Given the description of an element on the screen output the (x, y) to click on. 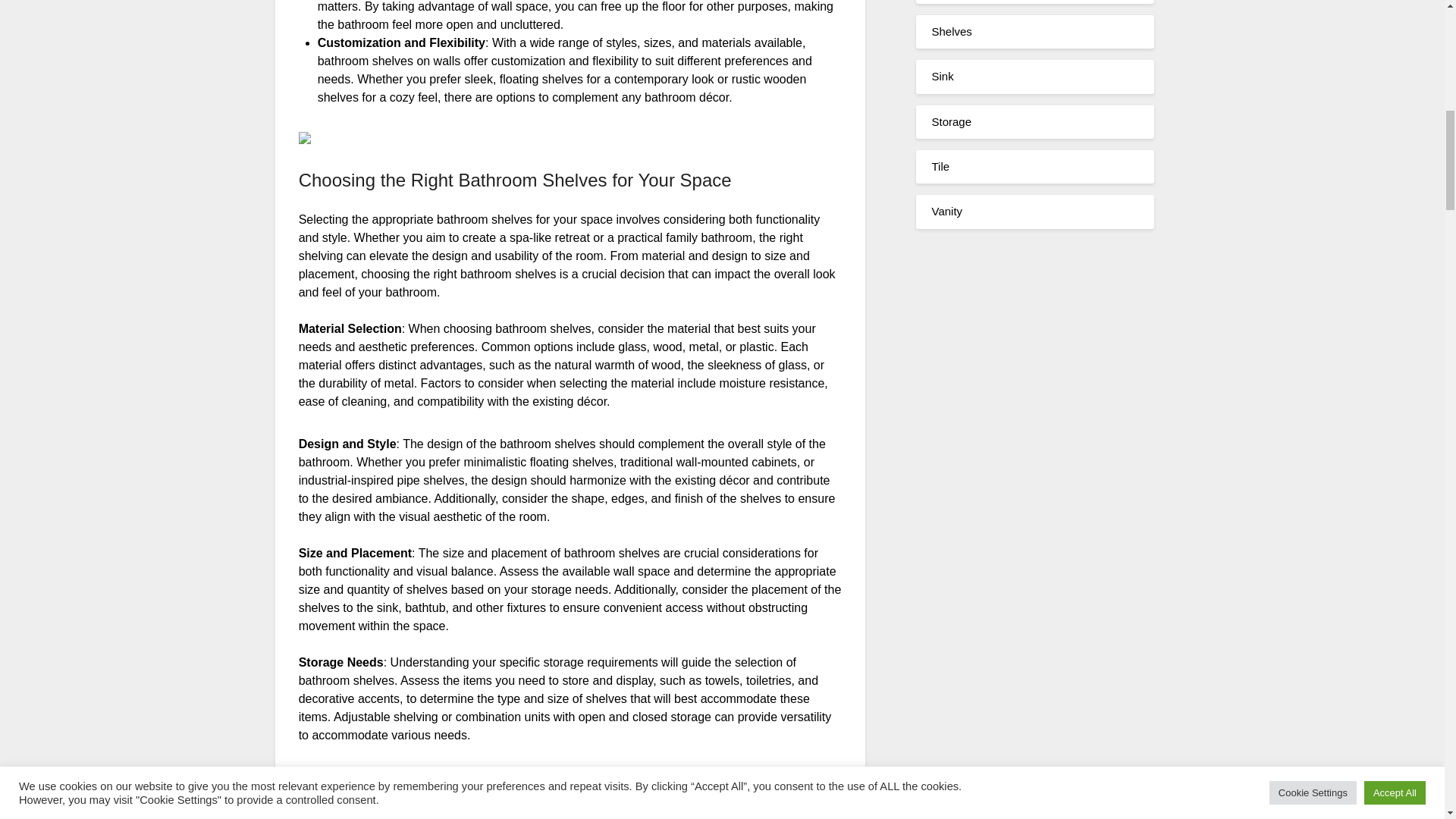
Shelves (951, 31)
Vanity (946, 210)
Tile (940, 165)
Storage (951, 121)
Sink (942, 75)
